Given the description of an element on the screen output the (x, y) to click on. 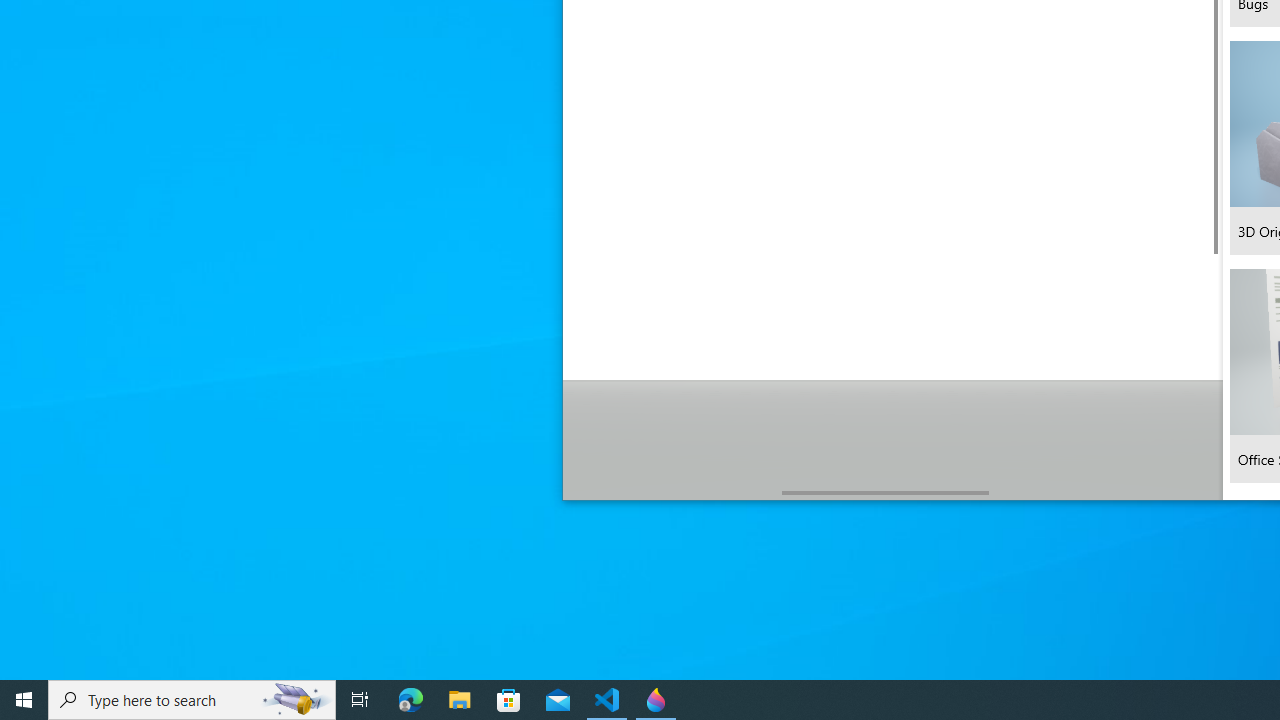
Paint 3D - 1 running window (656, 699)
